Given the description of an element on the screen output the (x, y) to click on. 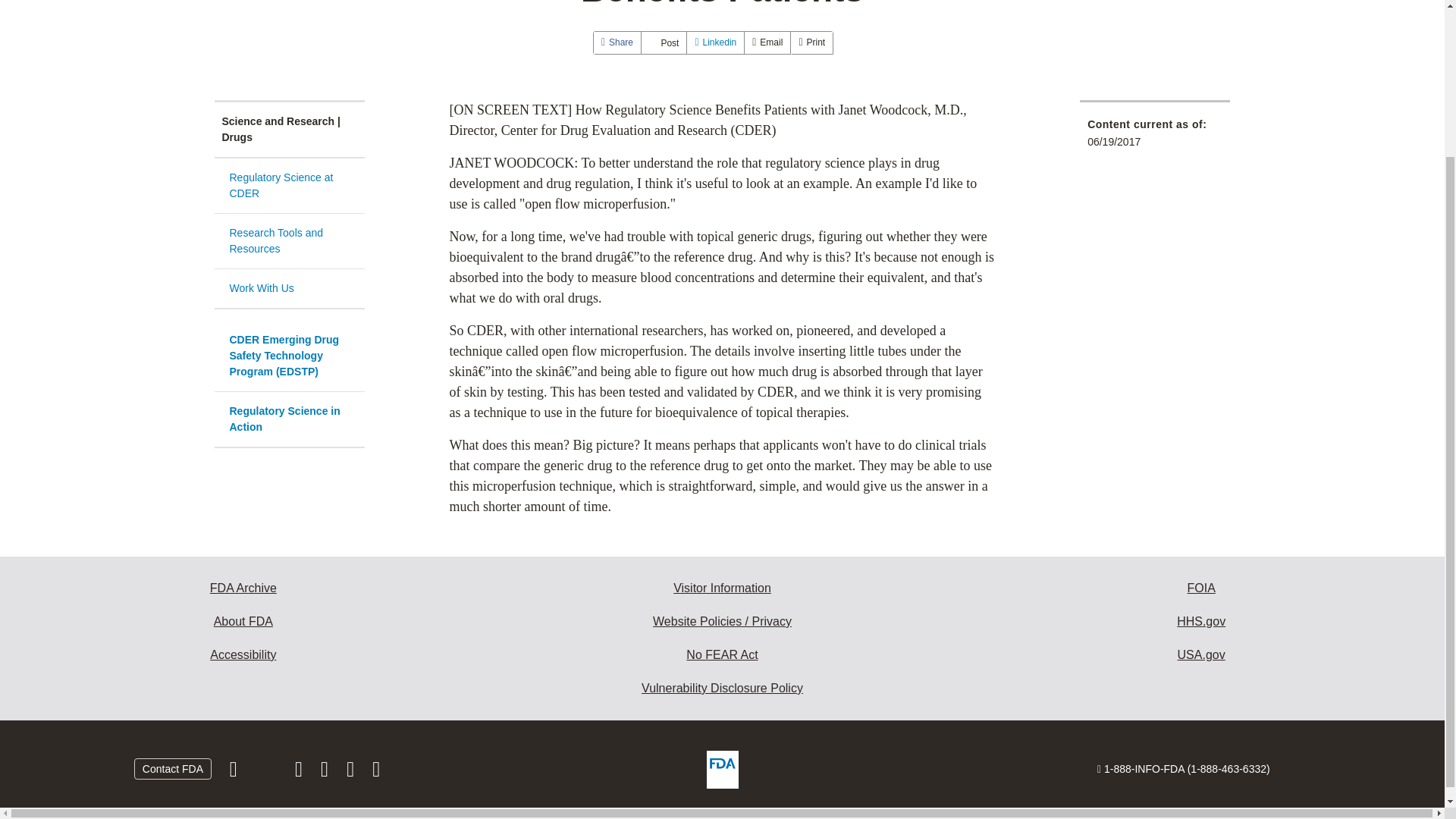
Follow FDA on Facebook (234, 772)
Freedom of Information Act (1200, 588)
View FDA videos on YouTube (352, 772)
Follow FDA on X (266, 772)
Follow FDA on LinkedIn (326, 772)
Health and Human Services (1200, 621)
Follow FDA on Instagram (299, 772)
Subscribe to FDA RSS feeds (376, 772)
Print this page (811, 42)
